Given the description of an element on the screen output the (x, y) to click on. 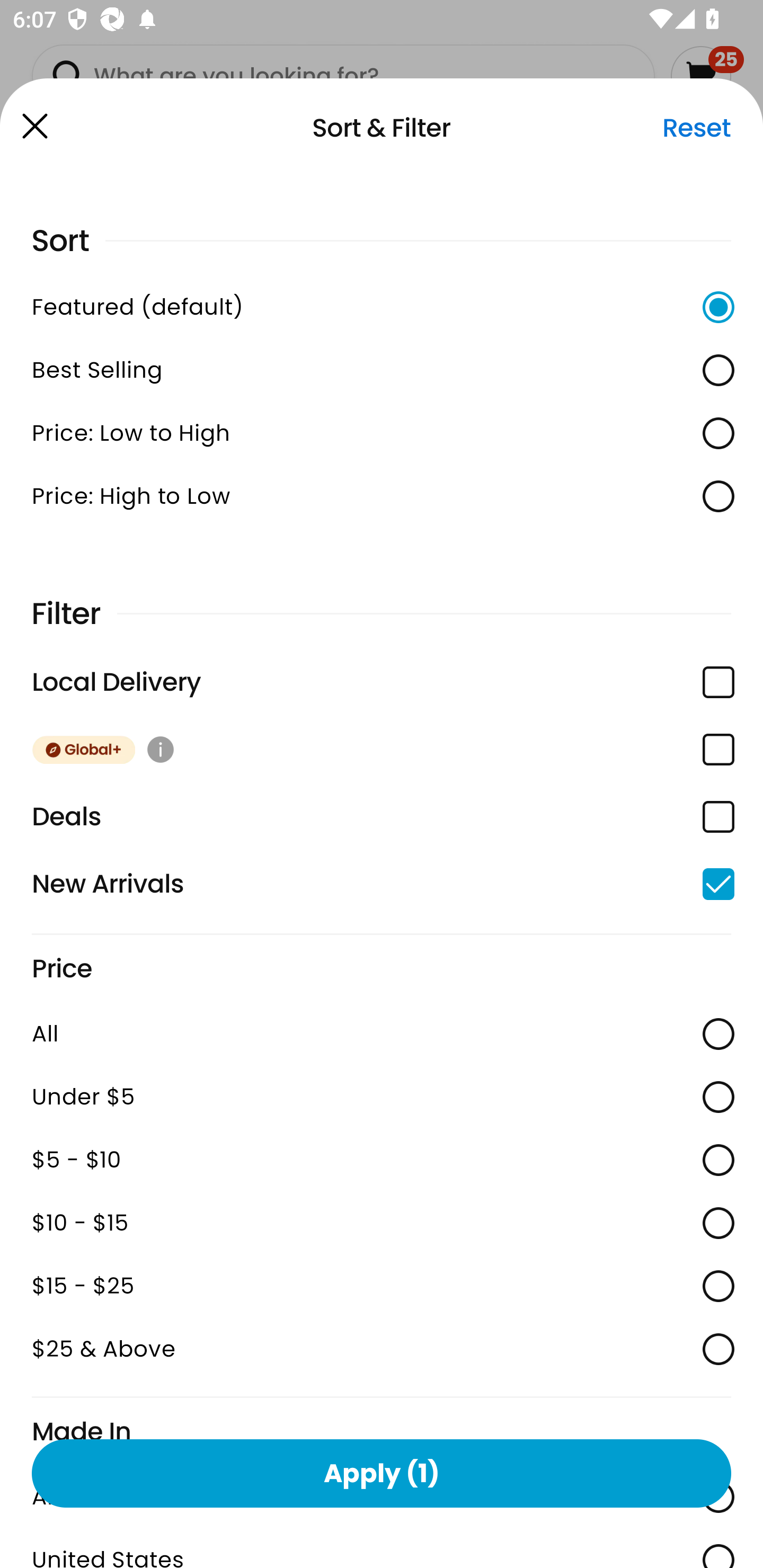
Reset (696, 127)
Apply (1) (381, 1472)
